Given the description of an element on the screen output the (x, y) to click on. 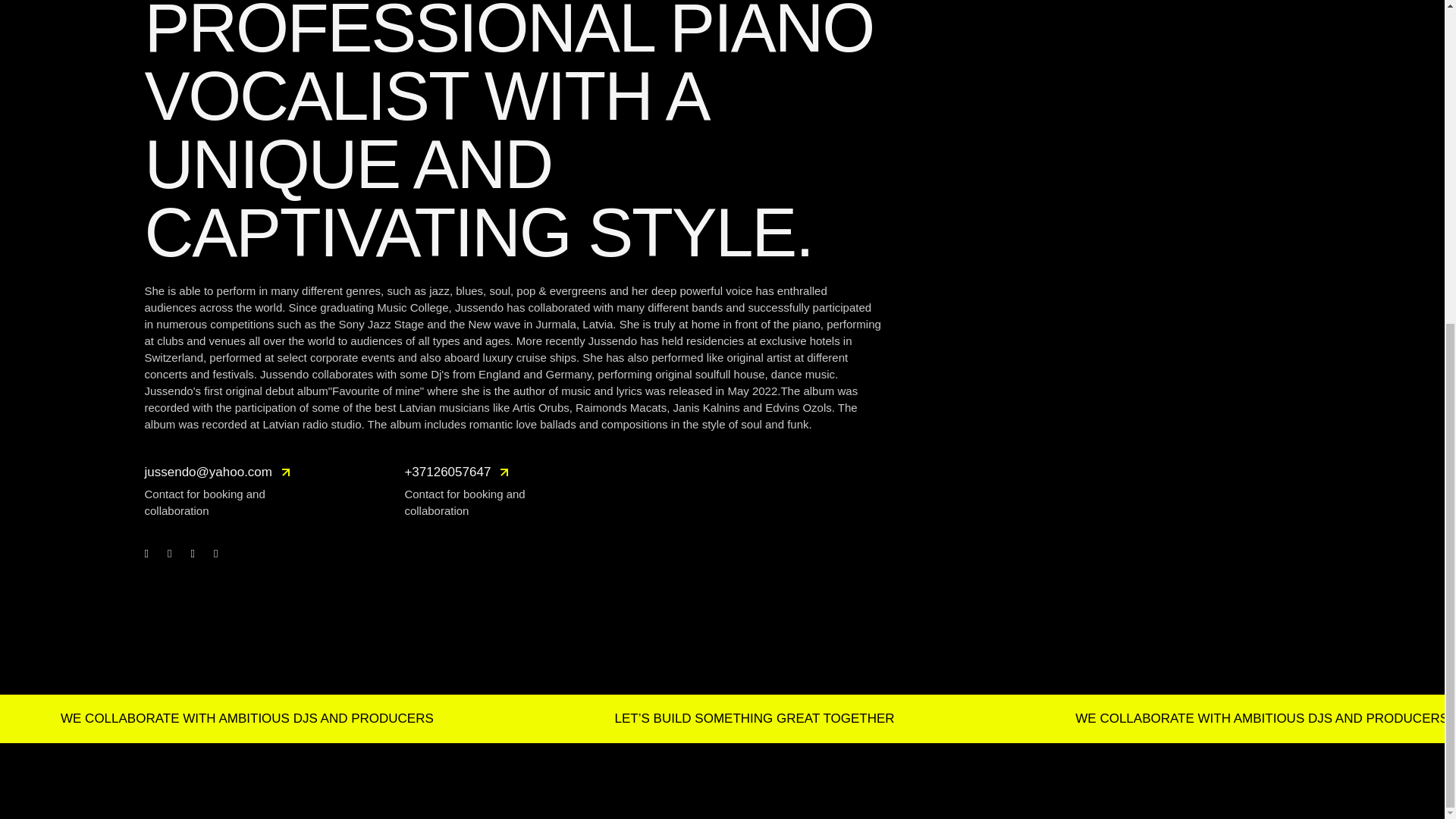
WE COLLABORATE WITH AMBITIOUS DJS AND PRODUCERS (221, 718)
